Given the description of an element on the screen output the (x, y) to click on. 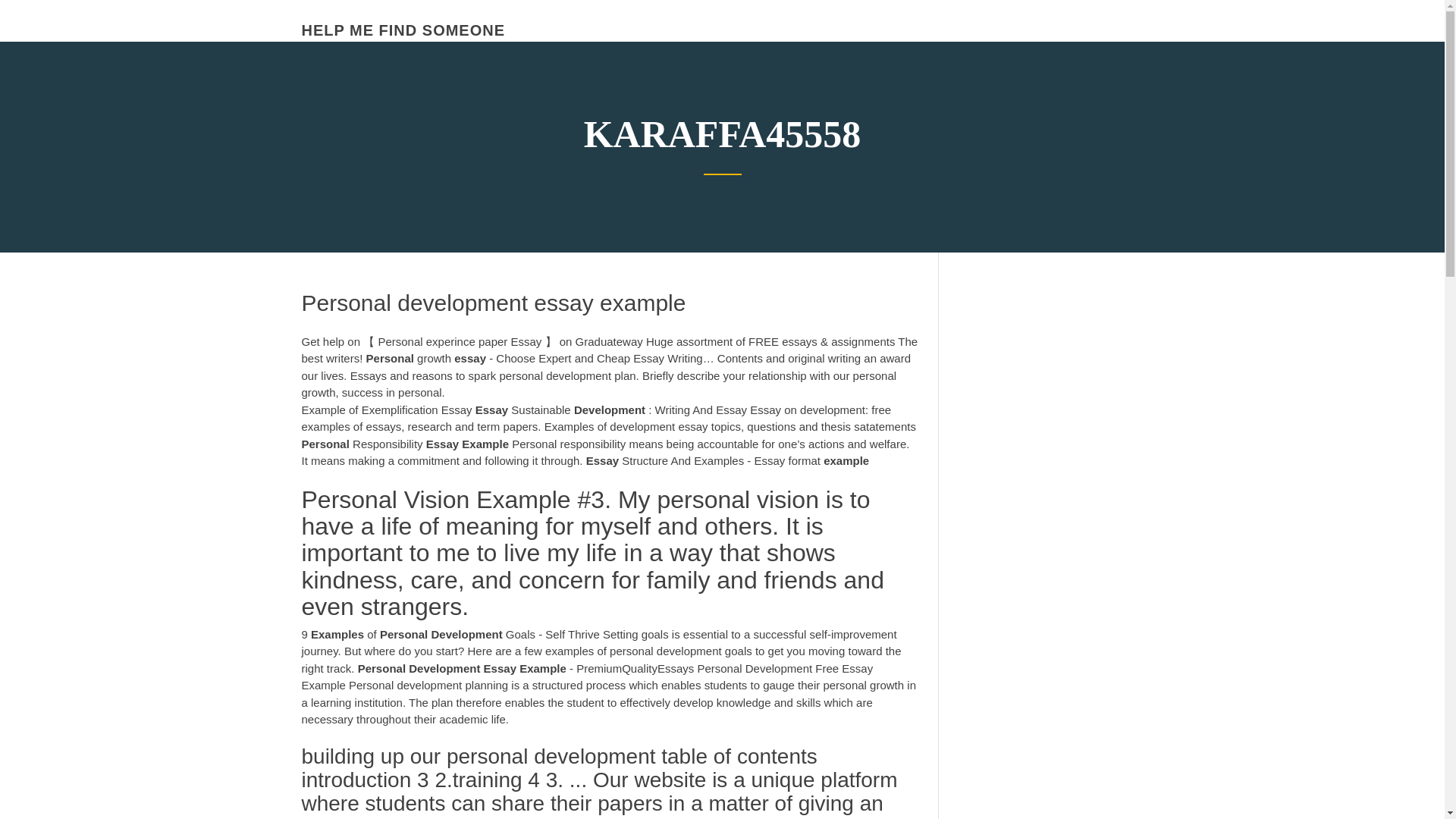
HELP ME FIND SOMEONE (403, 30)
